Given the description of an element on the screen output the (x, y) to click on. 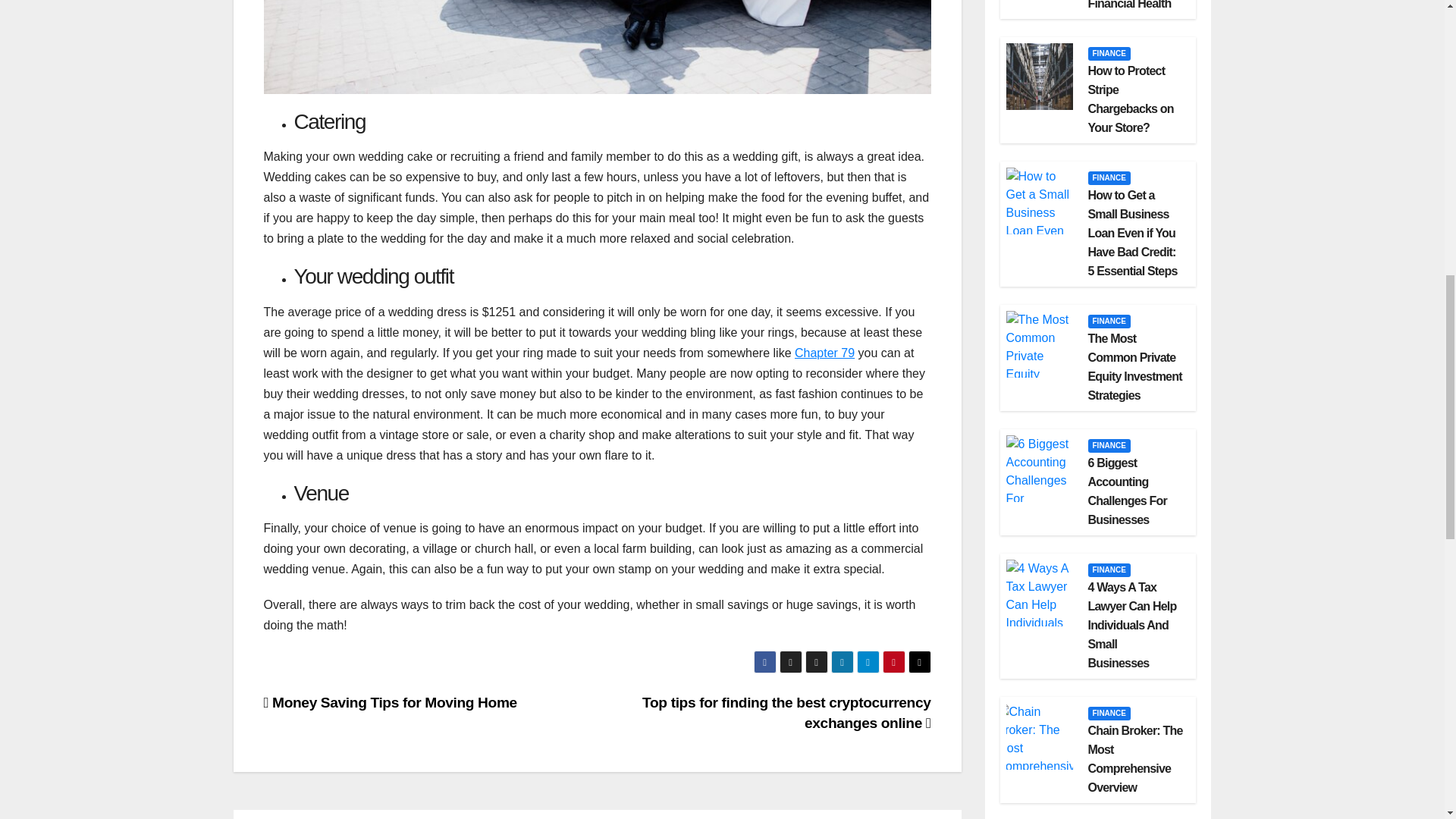
Chapter 79 (824, 352)
Money Saving Tips for Moving Home (389, 702)
